Given the description of an element on the screen output the (x, y) to click on. 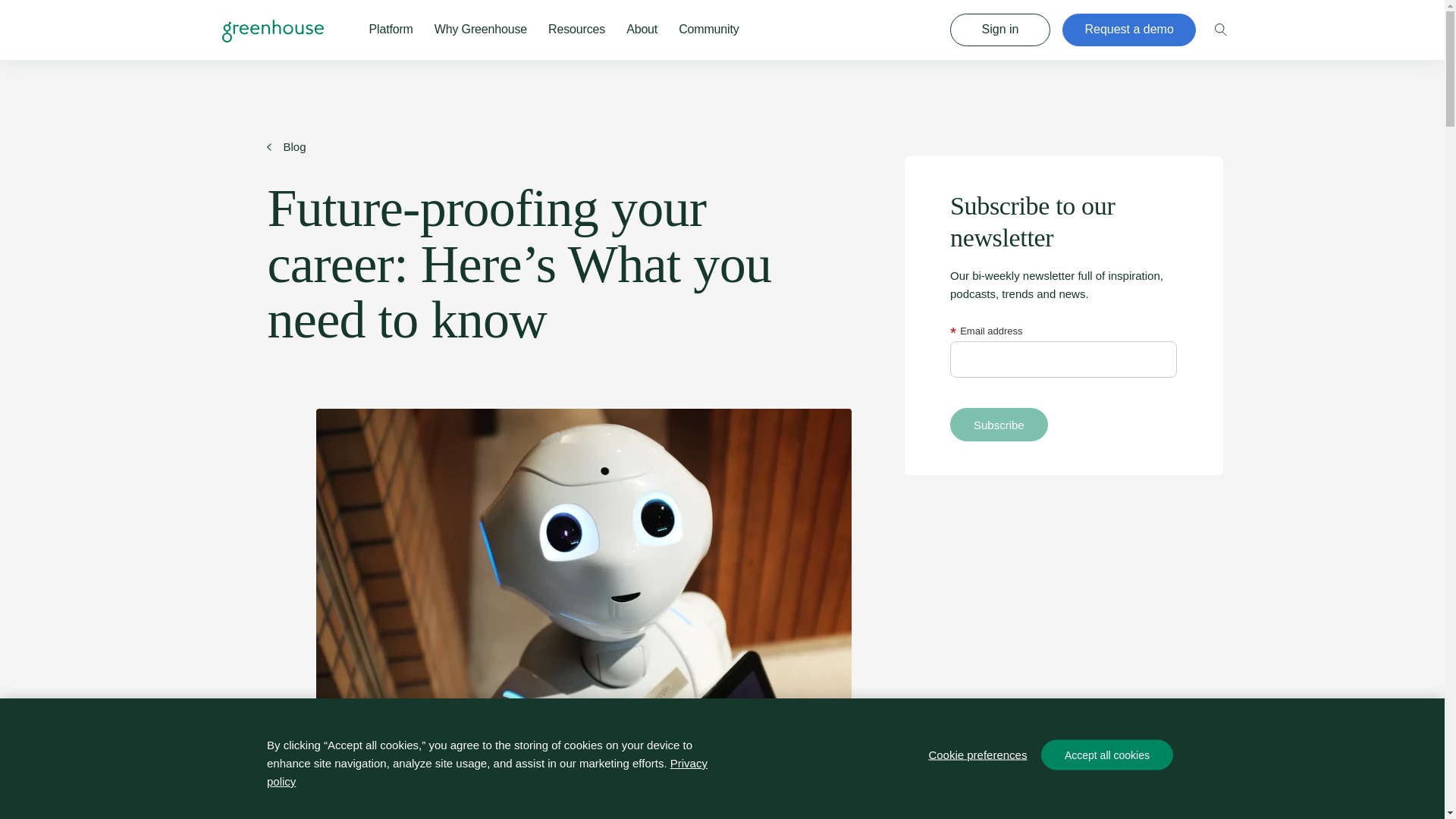
Greenhouse Home Link (576, 29)
